Given the description of an element on the screen output the (x, y) to click on. 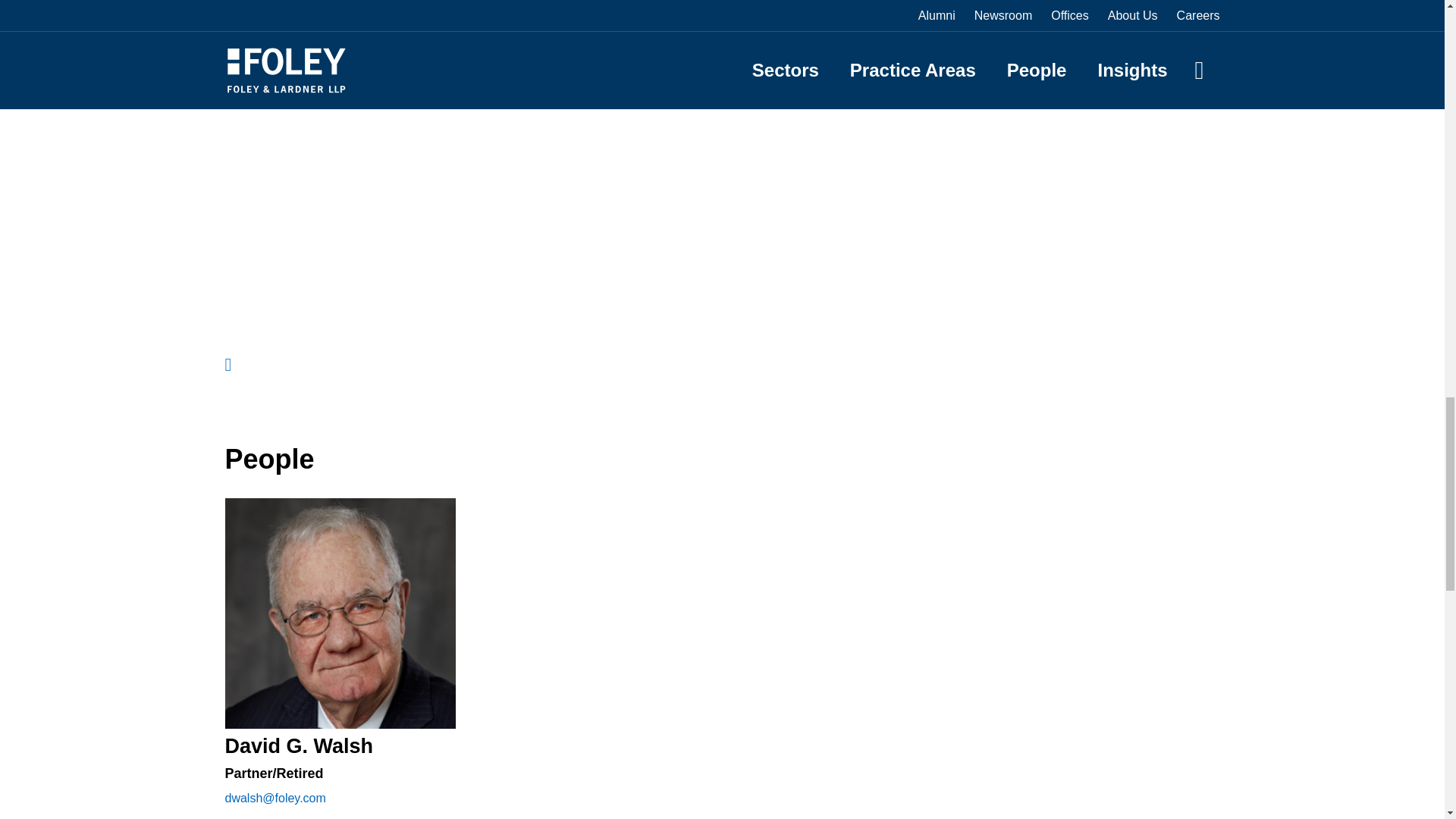
David G. Walsh (298, 745)
